Given the description of an element on the screen output the (x, y) to click on. 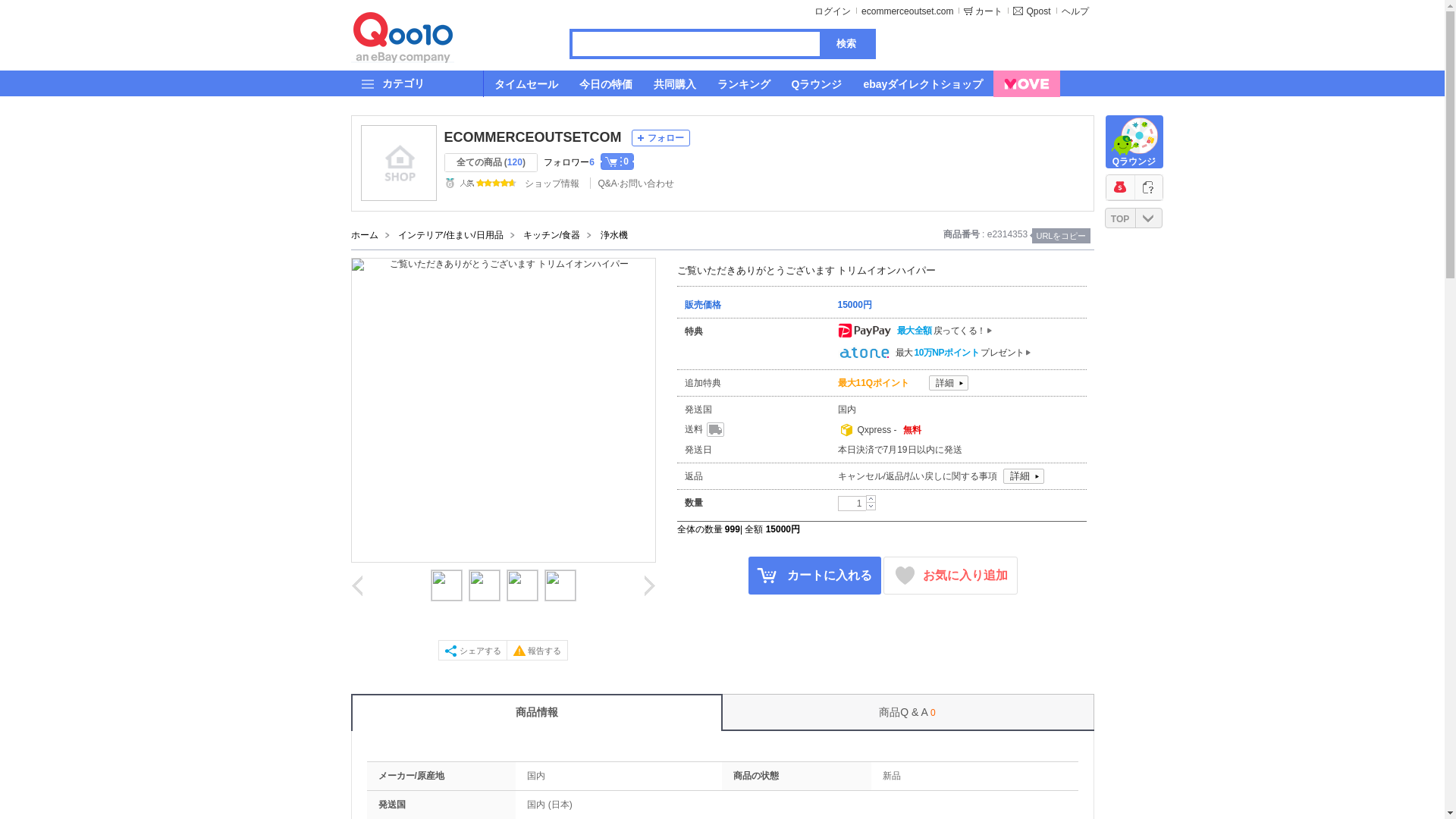
1 (850, 503)
0 (616, 161)
ecommerceoutset.com (906, 11)
MOVE (1025, 83)
search (845, 43)
Qpost (1031, 11)
ECOMMERCEOUTSETCOM (532, 137)
